Given the description of an element on the screen output the (x, y) to click on. 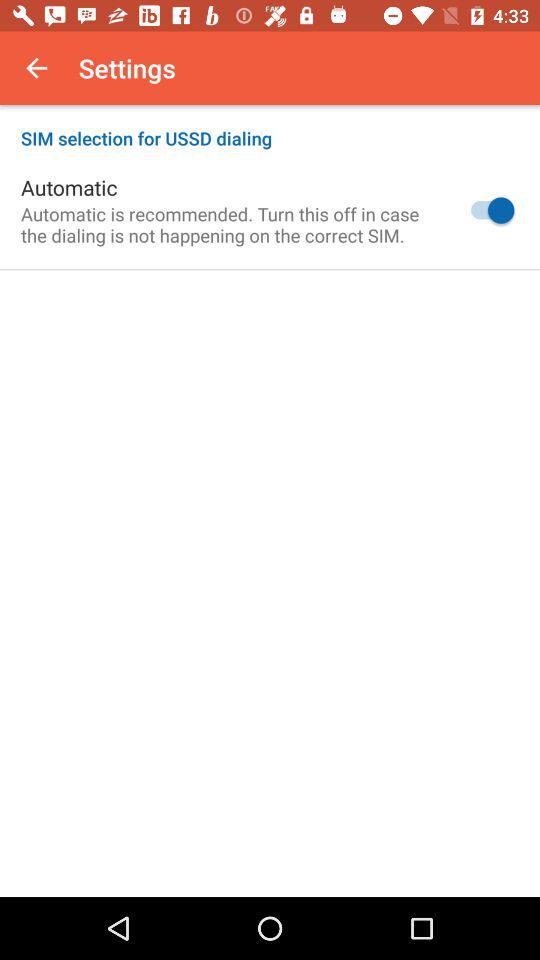
click the icon to the right of automatic is recommended (487, 210)
